Given the description of an element on the screen output the (x, y) to click on. 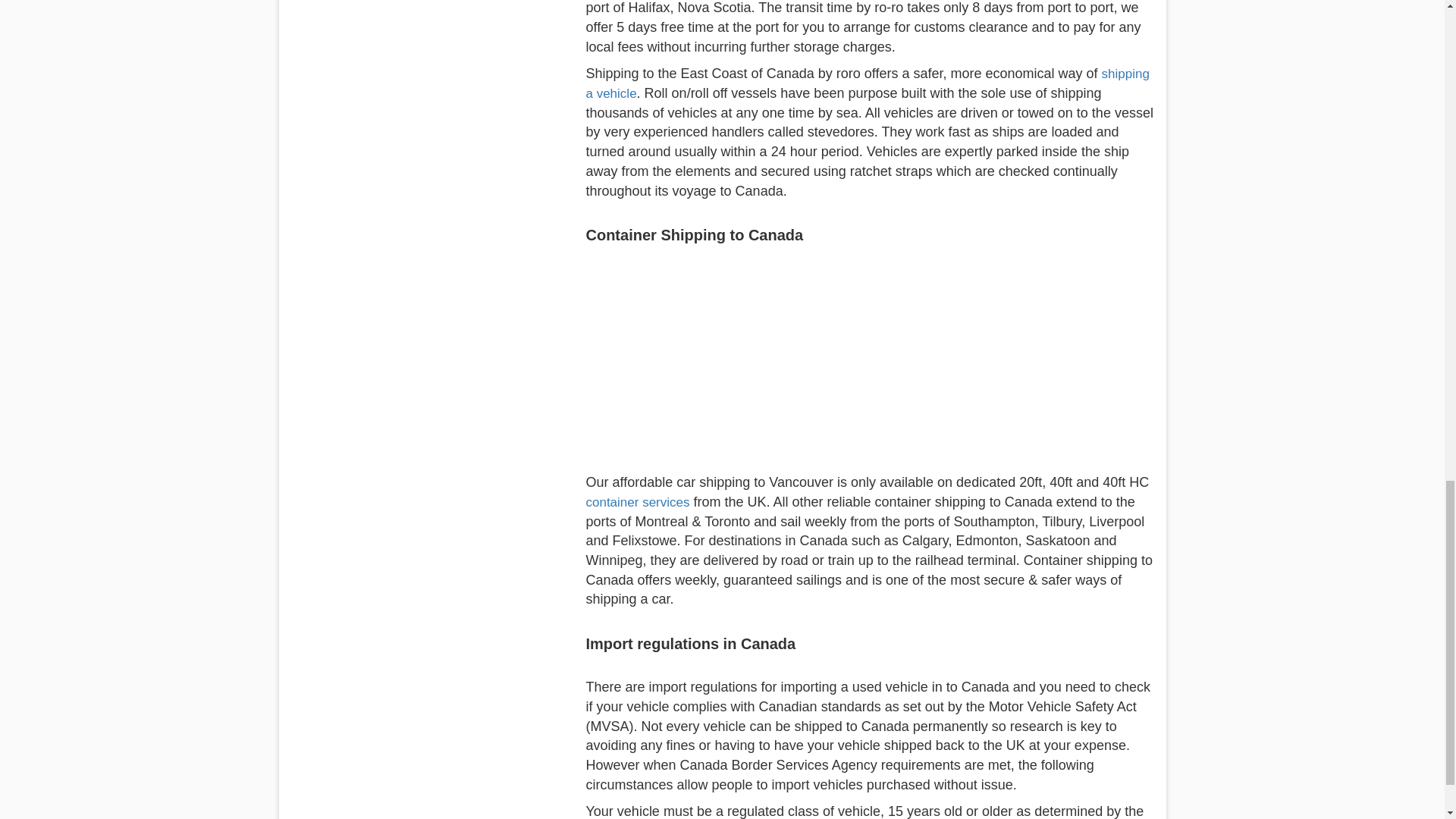
container services (636, 502)
shipping a vehicle (866, 83)
